Given the description of an element on the screen output the (x, y) to click on. 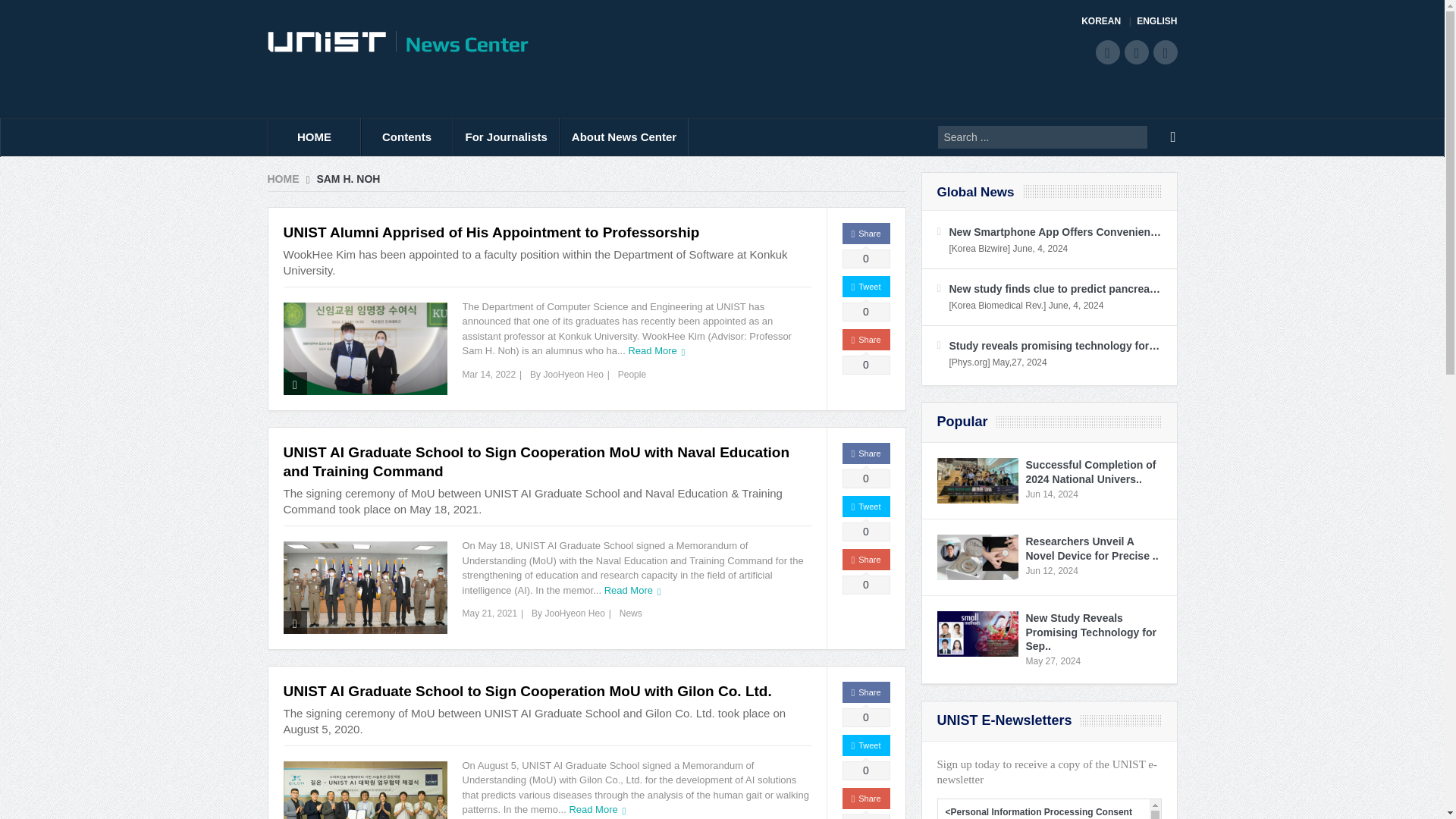
Contents (406, 136)
HOME (313, 136)
ENGLISH (1156, 21)
KOREAN (1105, 21)
